Given the description of an element on the screen output the (x, y) to click on. 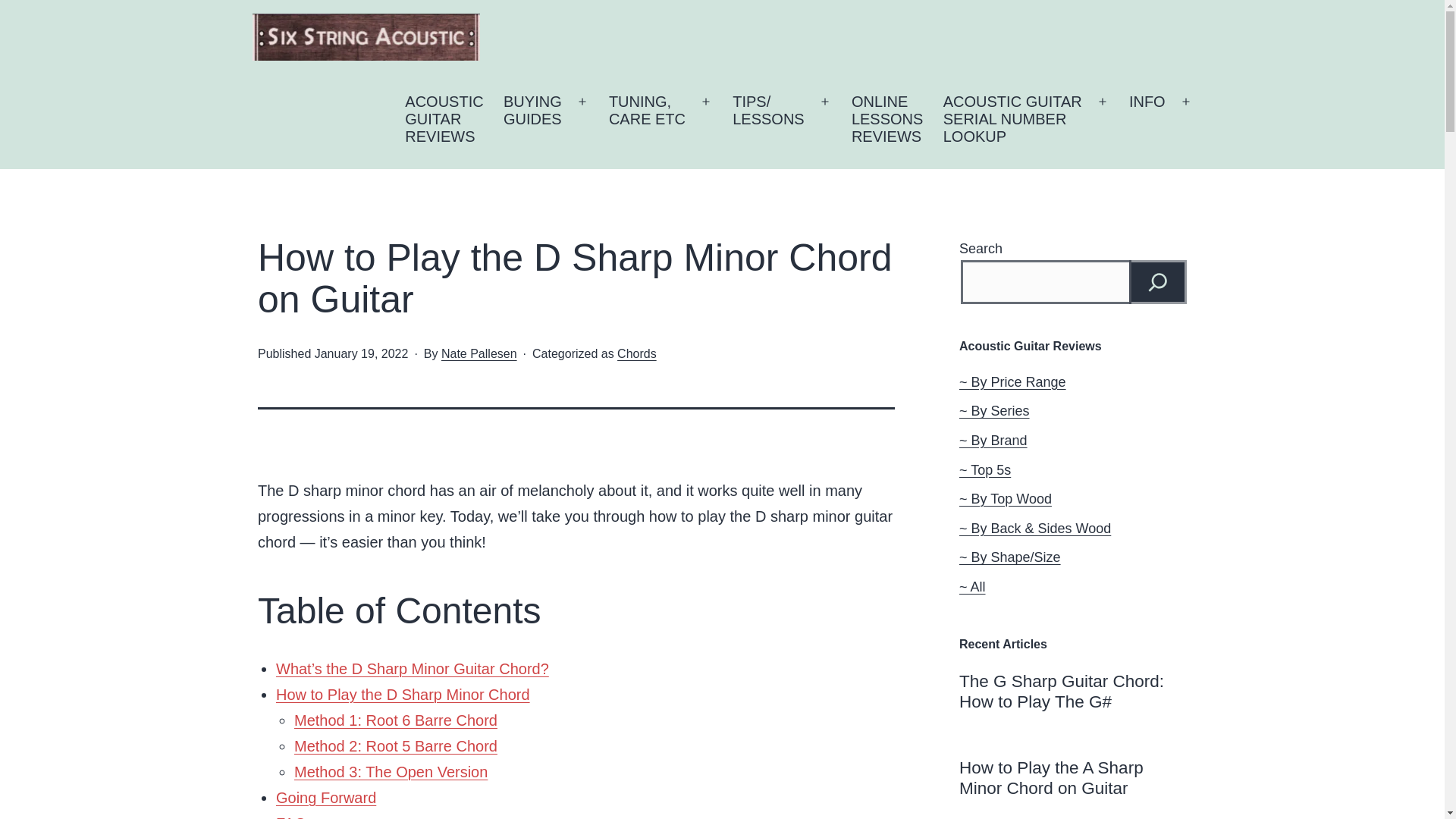
Open menu (443, 119)
Open menu (1102, 102)
Open menu (532, 119)
Open menu (705, 102)
INFO (646, 119)
Open menu (887, 119)
